Given the description of an element on the screen output the (x, y) to click on. 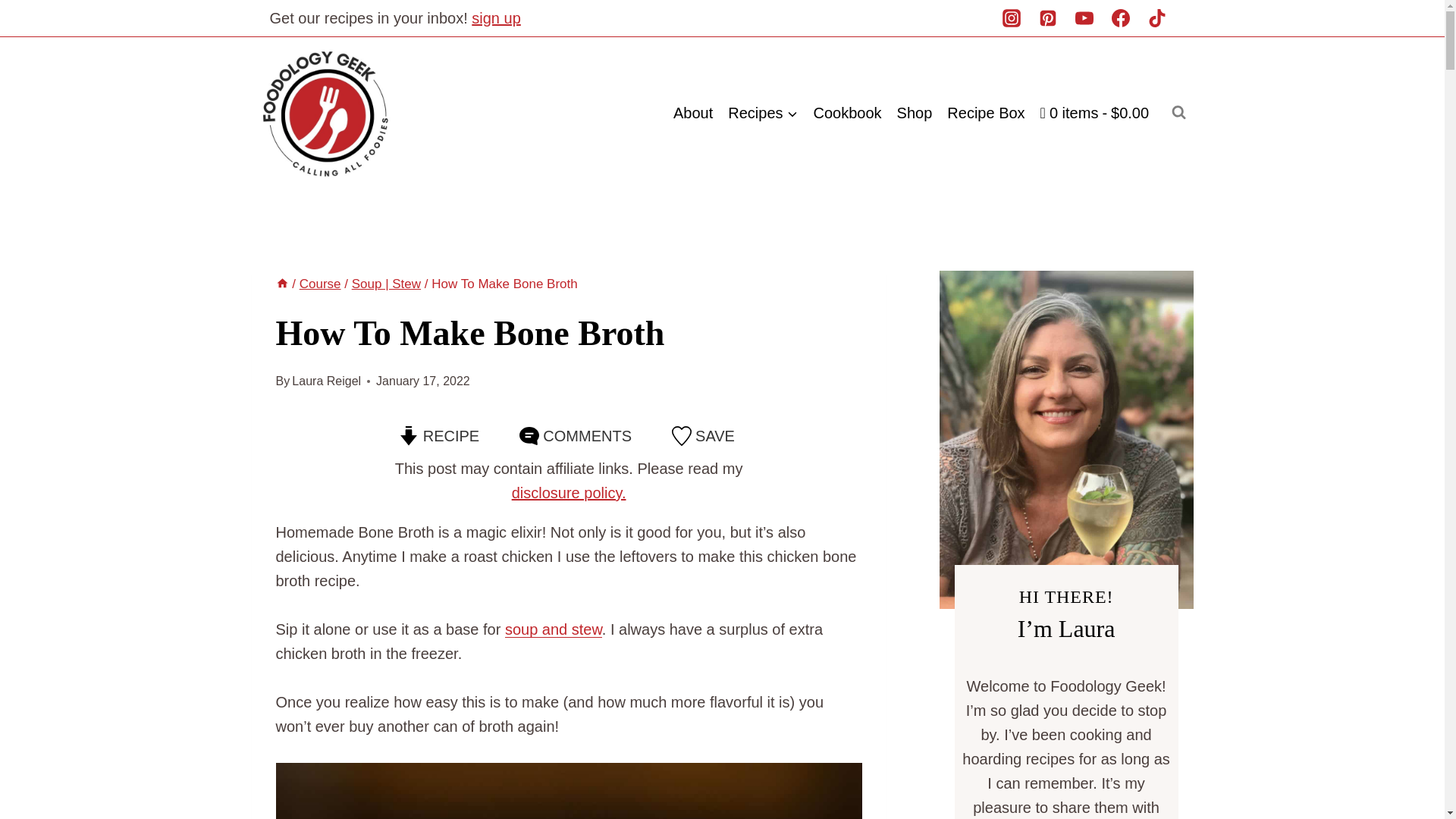
Recipes (762, 112)
About (692, 112)
sign up (496, 17)
Home (282, 283)
Start shopping (1094, 112)
